Given the description of an element on the screen output the (x, y) to click on. 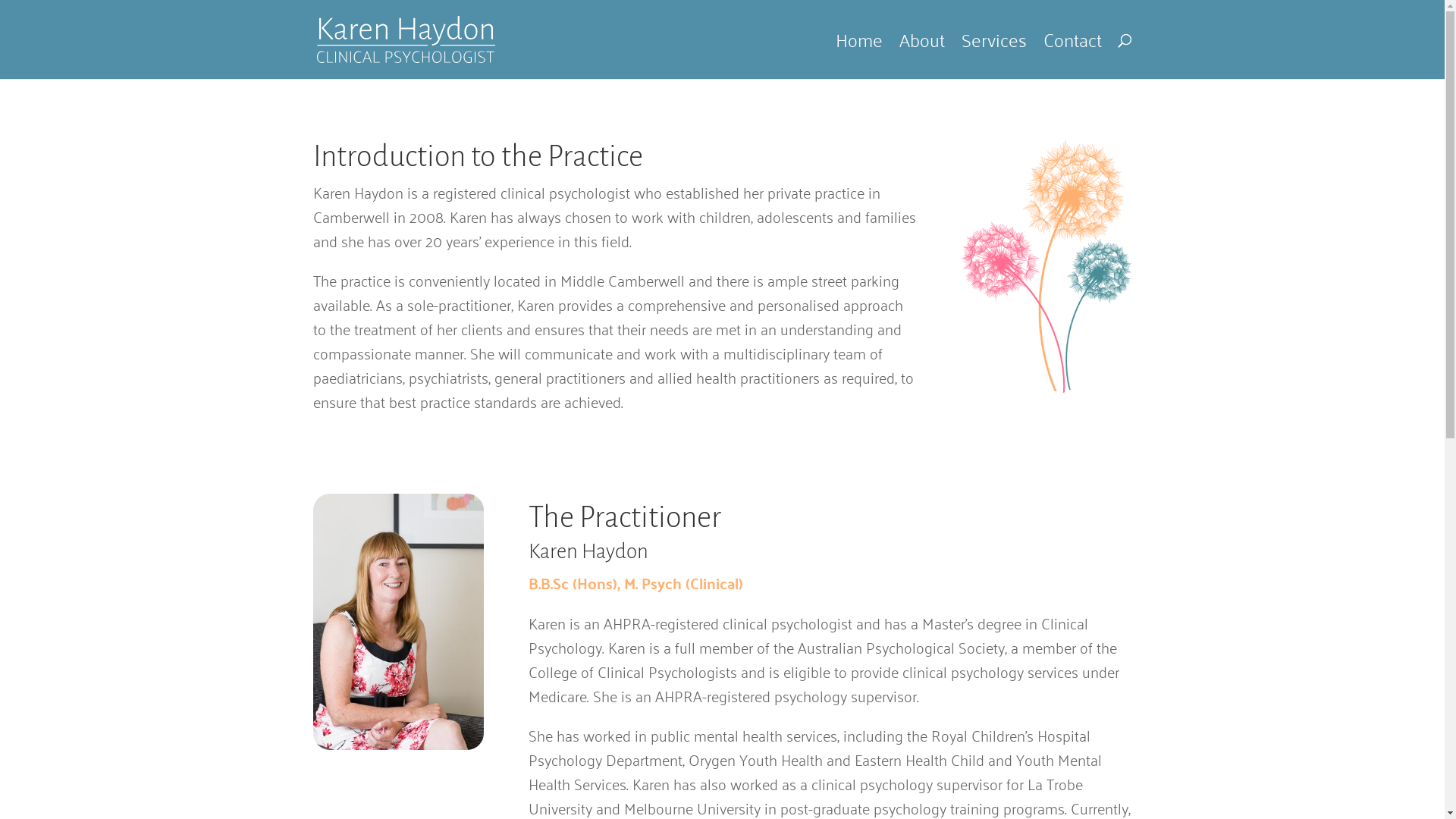
Home Element type: text (858, 56)
Services Element type: text (993, 56)
About Element type: text (921, 56)
Contact Element type: text (1072, 56)
